Given the description of an element on the screen output the (x, y) to click on. 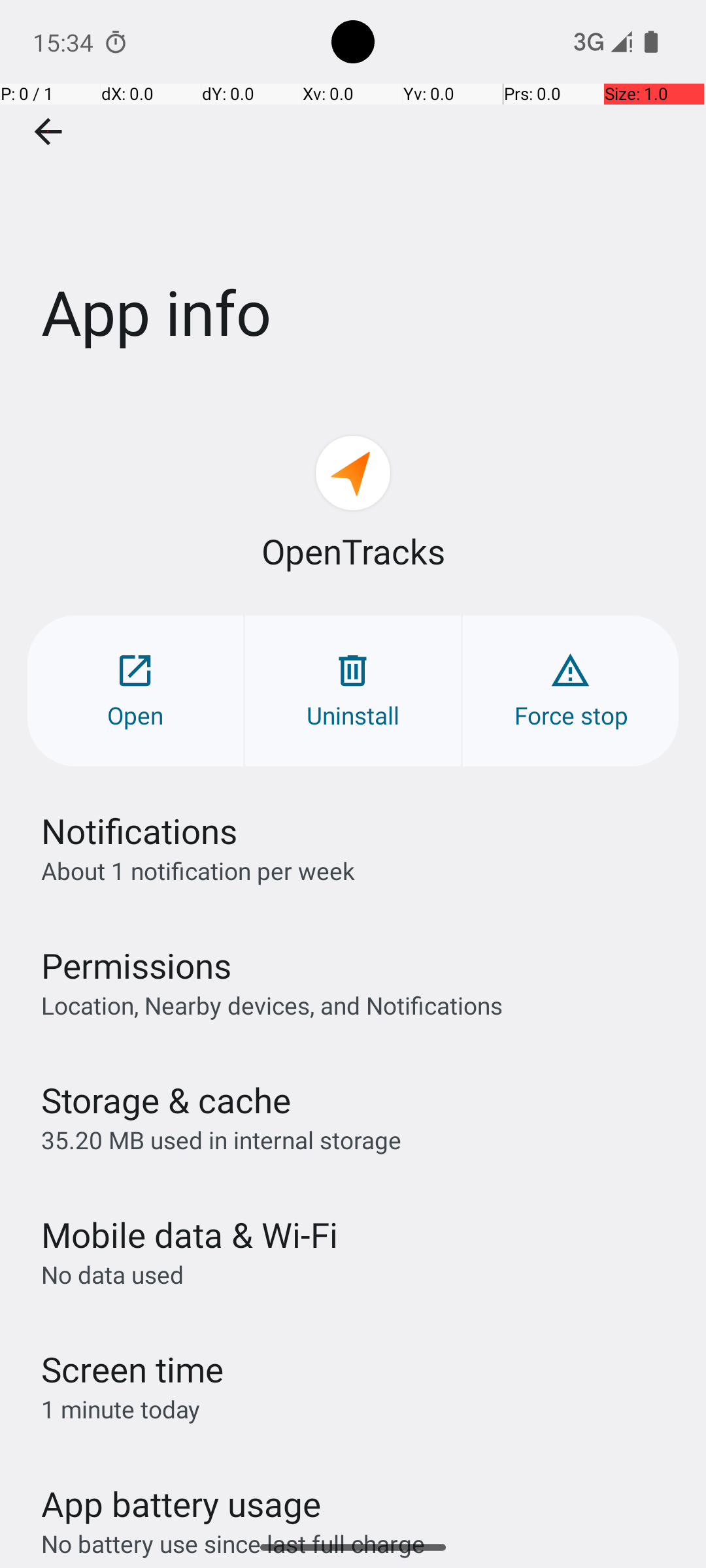
About 1 notification per week Element type: android.widget.TextView (197, 870)
Location, Nearby devices, and Notifications Element type: android.widget.TextView (271, 1004)
35.20 MB used in internal storage Element type: android.widget.TextView (221, 1139)
1 minute today Element type: android.widget.TextView (120, 1408)
